Given the description of an element on the screen output the (x, y) to click on. 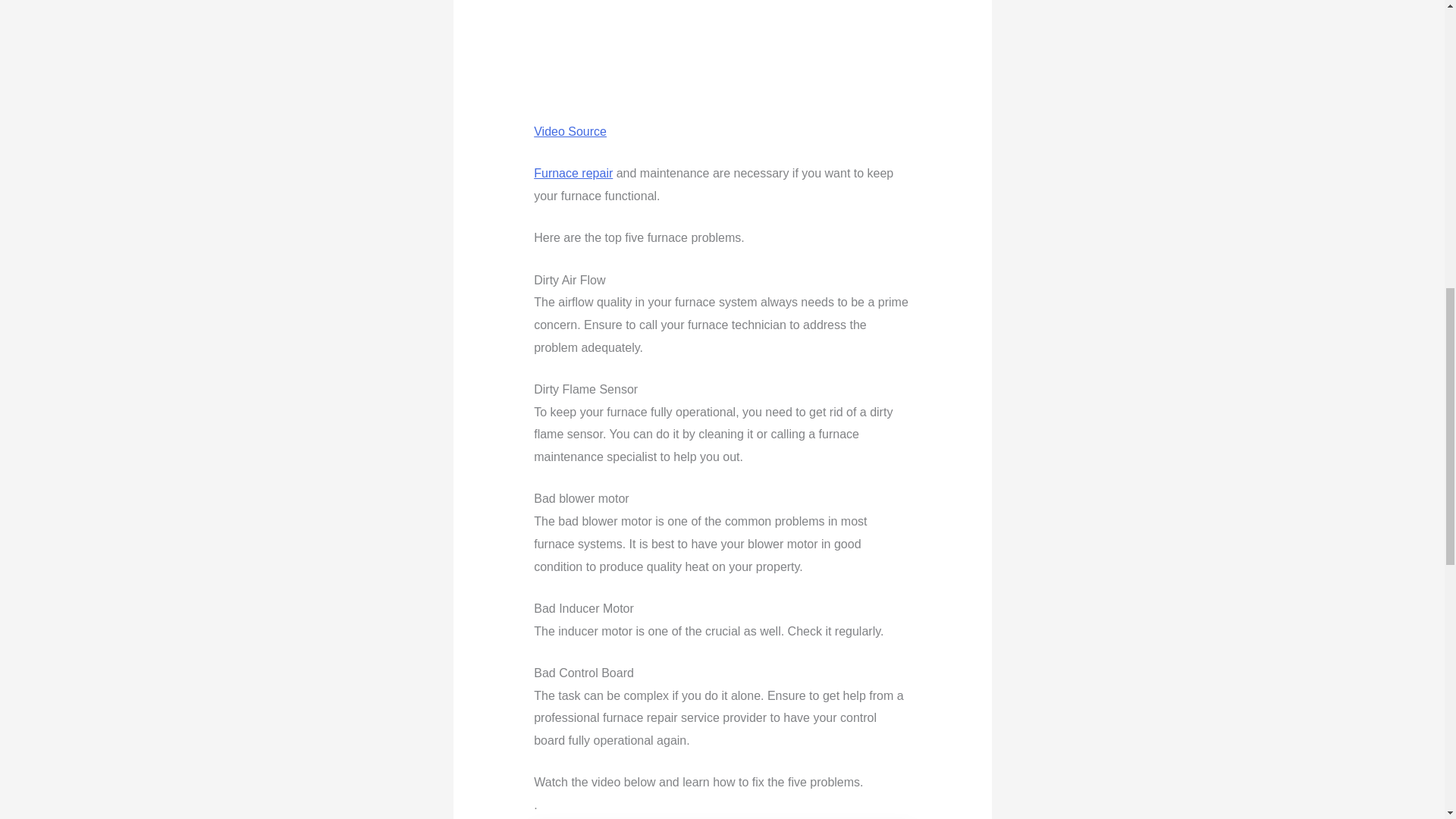
Video Source (570, 131)
Furnace repair (573, 173)
